Given the description of an element on the screen output the (x, y) to click on. 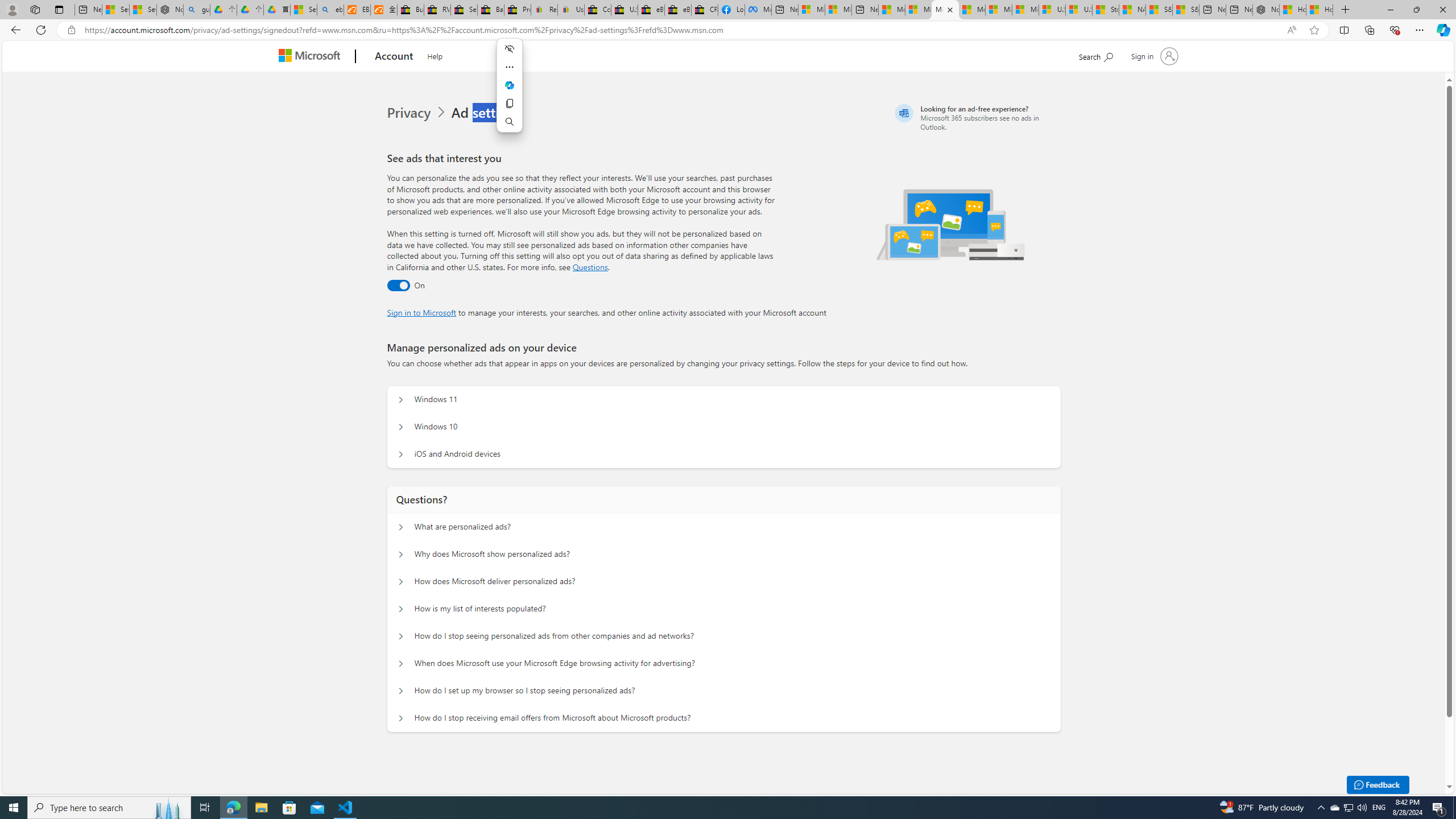
Copy (509, 103)
Account (394, 56)
S&P 500, Nasdaq end lower, weighed by Nvidia dip | Watch (1185, 9)
Manage personalized ads on your device Windows 10 (401, 427)
More actions (509, 67)
U.S. State Privacy Disclosures - eBay Inc. (623, 9)
Sell worldwide with eBay (463, 9)
Register: Create a personal eBay account (543, 9)
